Given the description of an element on the screen output the (x, y) to click on. 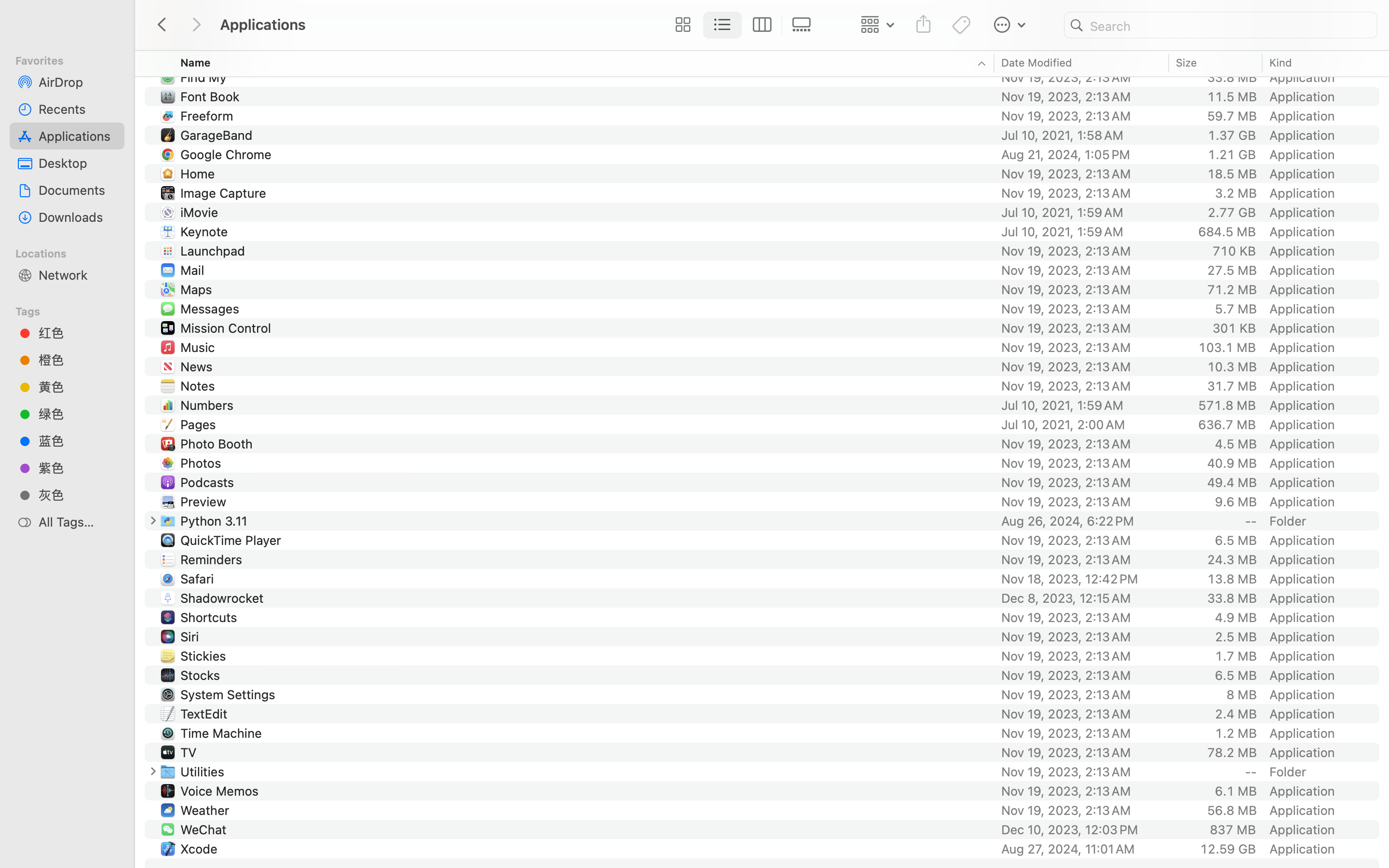
Applications Element type: AXStaticText (437, 827)
System Settings Element type: AXTextField (229, 694)
Launchpad Element type: AXTextField (214, 250)
Date Modified Element type: AXStaticText (1036, 62)
Xcode Element type: AXTextField (200, 848)
